Given the description of an element on the screen output the (x, y) to click on. 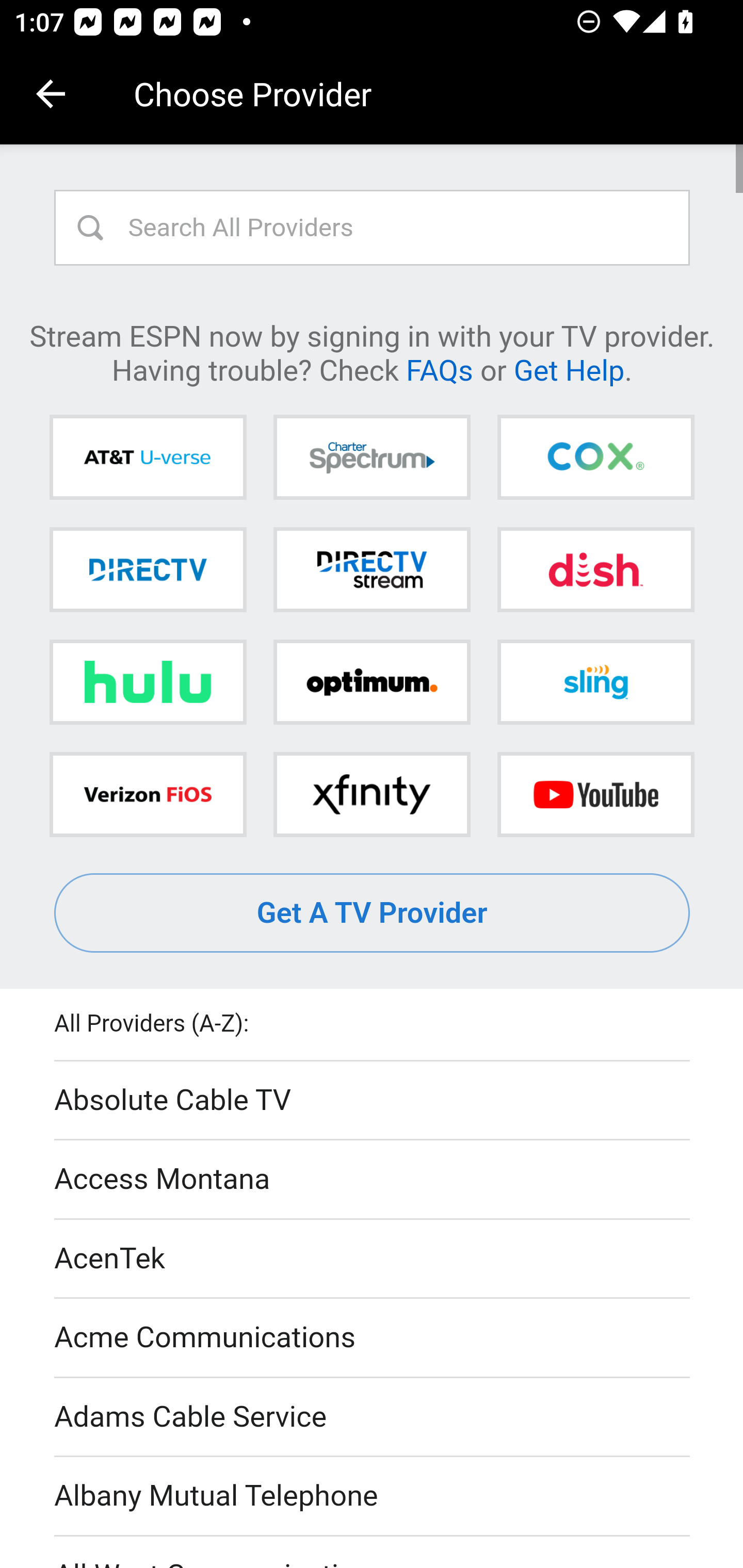
Navigate up (50, 93)
FAQs (438, 369)
Get Help (569, 369)
AT&T U-verse (147, 457)
Charter Spectrum (371, 457)
Cox (595, 457)
DIRECTV (147, 568)
DIRECTV STREAM (371, 568)
DISH (595, 568)
Hulu (147, 681)
Optimum (371, 681)
Sling TV (595, 681)
Verizon FiOS (147, 793)
Xfinity (371, 793)
YouTube TV (595, 793)
Get A TV Provider (372, 912)
Absolute Cable TV (372, 1100)
Access Montana (372, 1178)
AcenTek (372, 1258)
Acme Communications (372, 1338)
Adams Cable Service (372, 1417)
Albany Mutual Telephone (372, 1497)
